Given the description of an element on the screen output the (x, y) to click on. 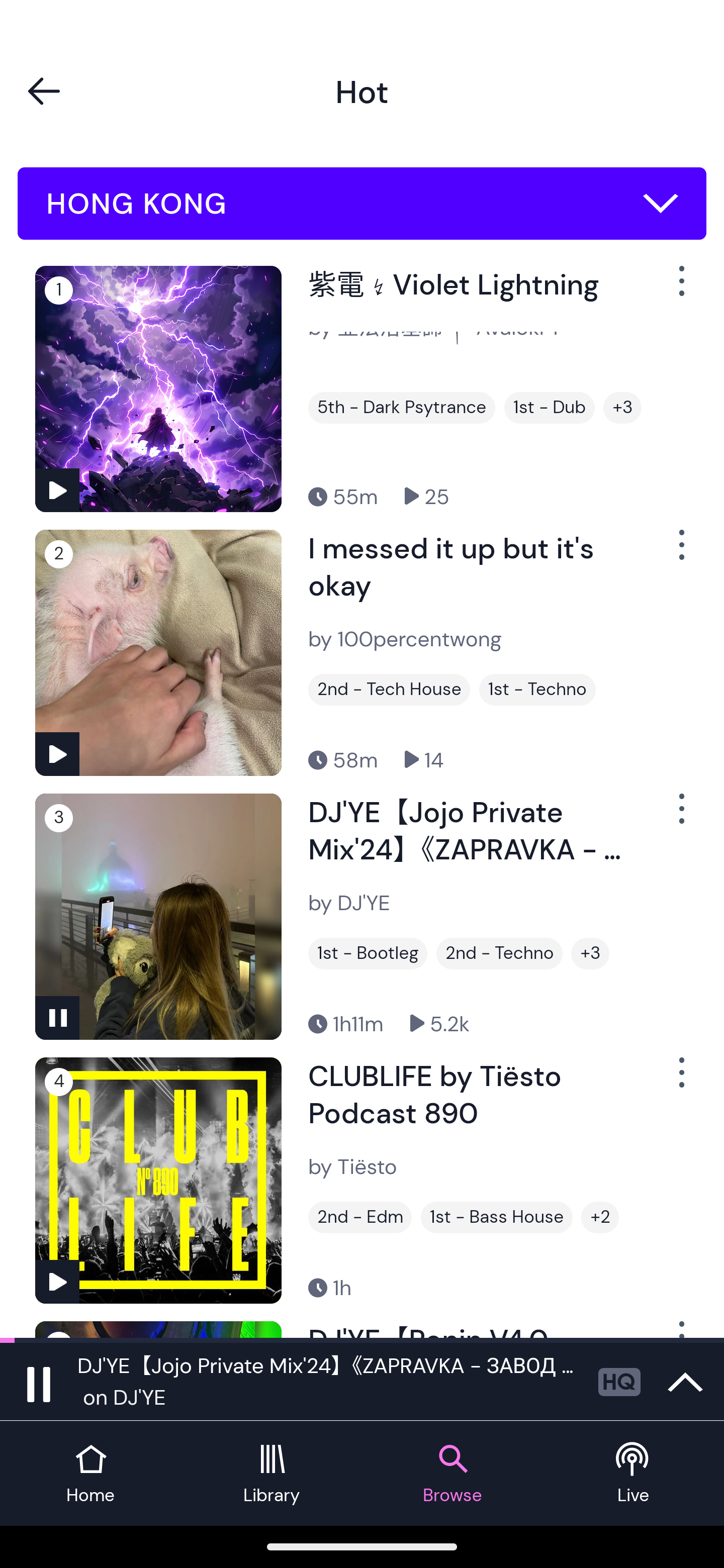
HONG KONG (361, 203)
Show Options Menu Button (679, 289)
5th - Dark Psytrance (401, 407)
1st - Dub (549, 407)
Show Options Menu Button (679, 552)
2nd - Tech House (388, 689)
1st - Techno (537, 689)
Show Options Menu Button (679, 815)
1st - Bootleg (367, 953)
2nd - Techno (499, 953)
Show Options Menu Button (679, 1079)
2nd - Edm (359, 1217)
1st - Bass House (496, 1217)
Home tab Home (90, 1473)
Library tab Library (271, 1473)
Browse tab Browse (452, 1473)
Live tab Live (633, 1473)
